Given the description of an element on the screen output the (x, y) to click on. 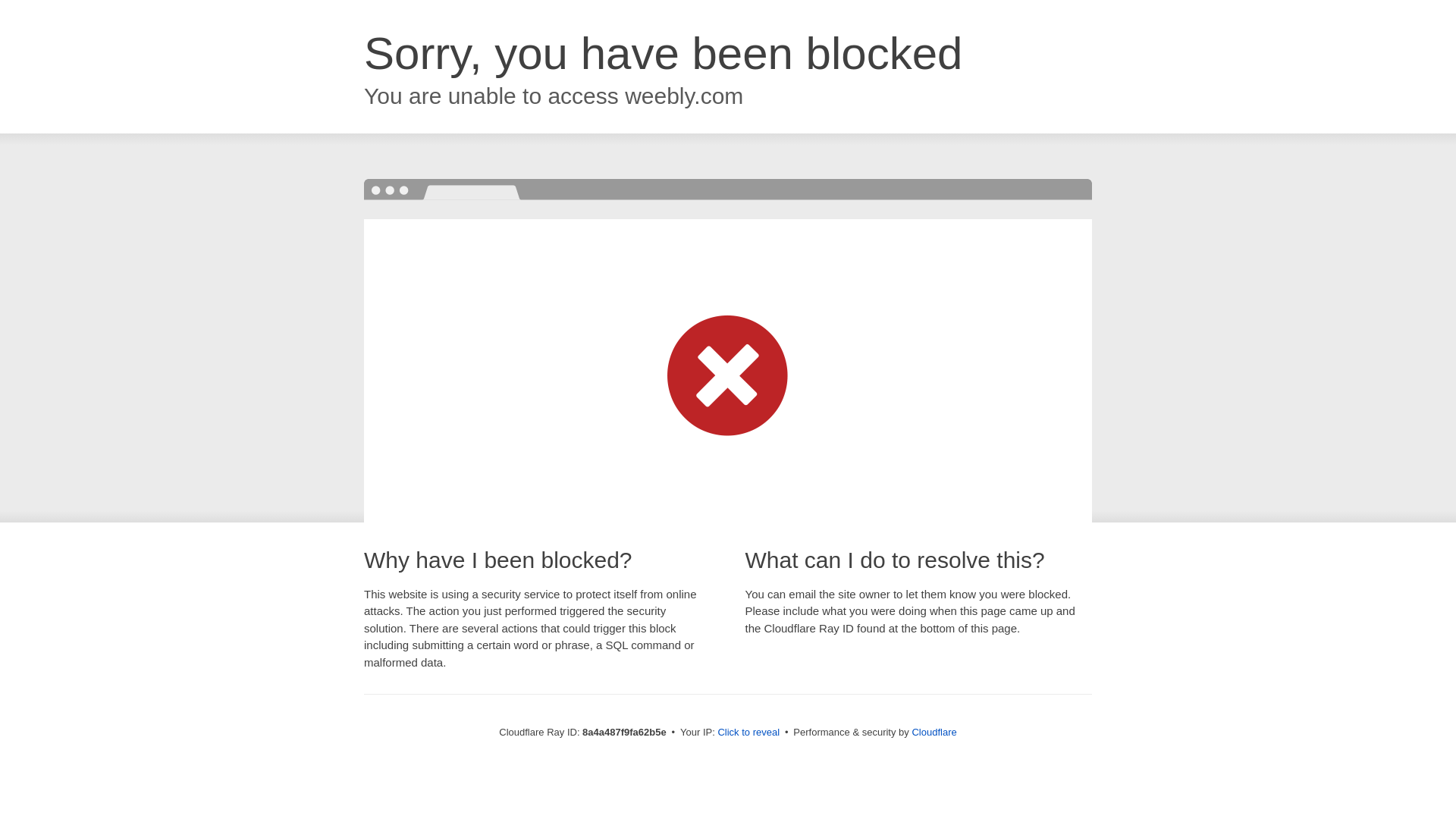
Click to reveal (747, 732)
Cloudflare (933, 731)
